Given the description of an element on the screen output the (x, y) to click on. 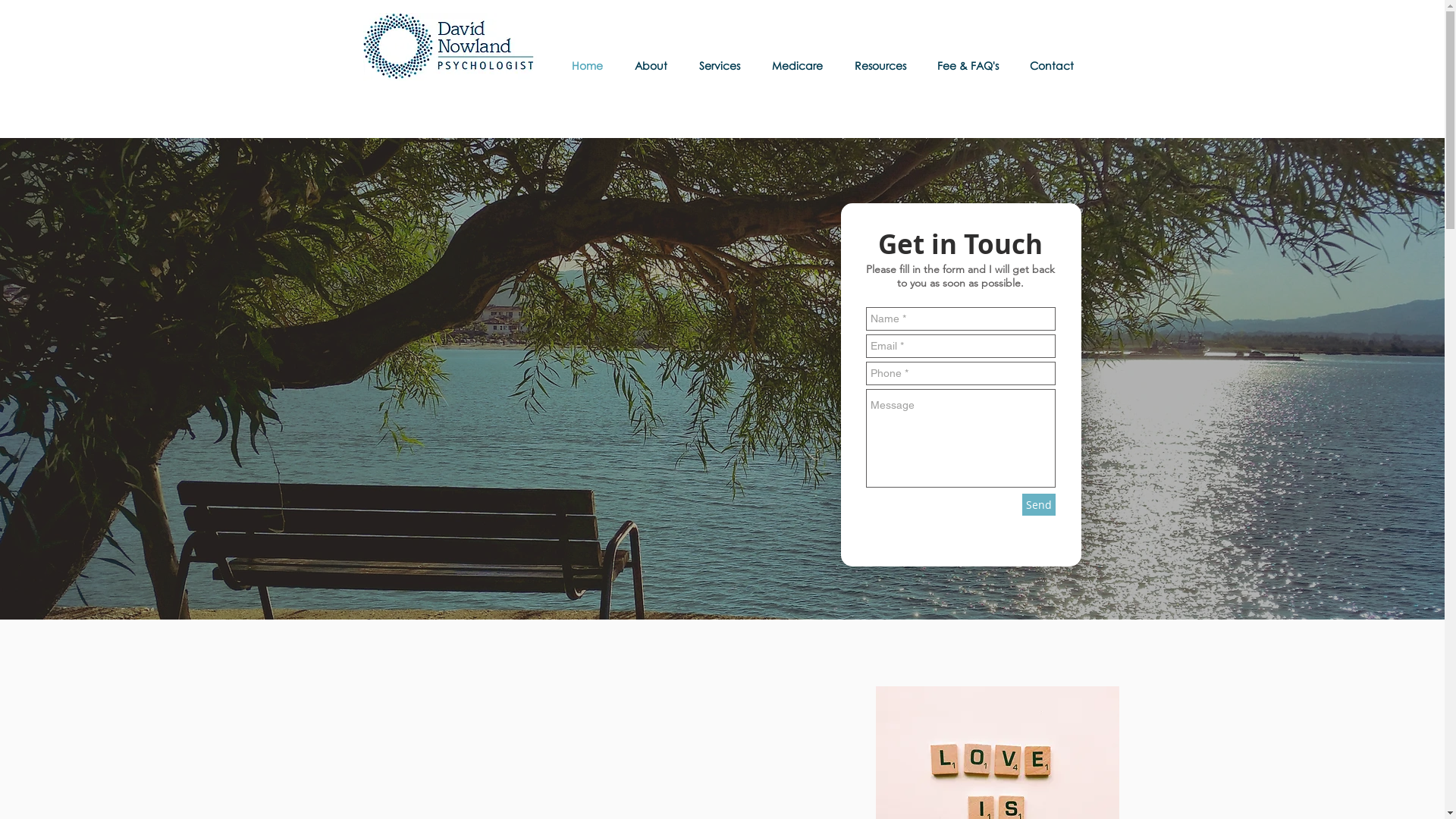
Services Element type: text (723, 65)
Send Element type: text (1038, 504)
Home Element type: text (590, 65)
Medicare Element type: text (800, 65)
Contact Element type: text (1054, 65)
Resources Element type: text (884, 65)
About Element type: text (655, 65)
Fee & FAQ's Element type: text (971, 65)
